Given the description of an element on the screen output the (x, y) to click on. 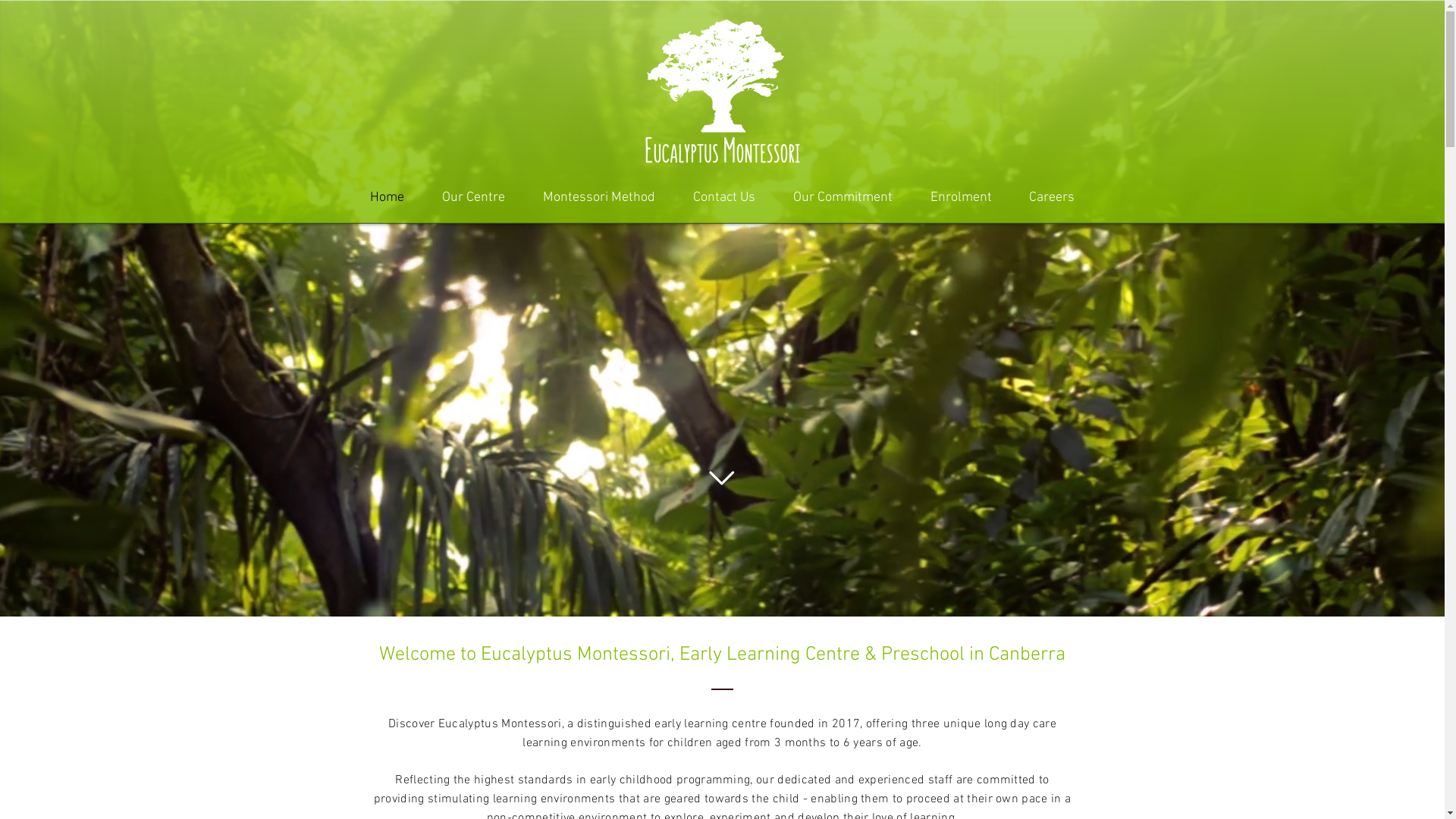
Our Commitment Element type: text (841, 195)
Montessori Method Element type: text (598, 195)
Enrolment Element type: text (960, 195)
Contact Us Element type: text (723, 195)
Our Centre Element type: text (473, 195)
Careers Element type: text (1051, 195)
Home Element type: text (386, 195)
